Given the description of an element on the screen output the (x, y) to click on. 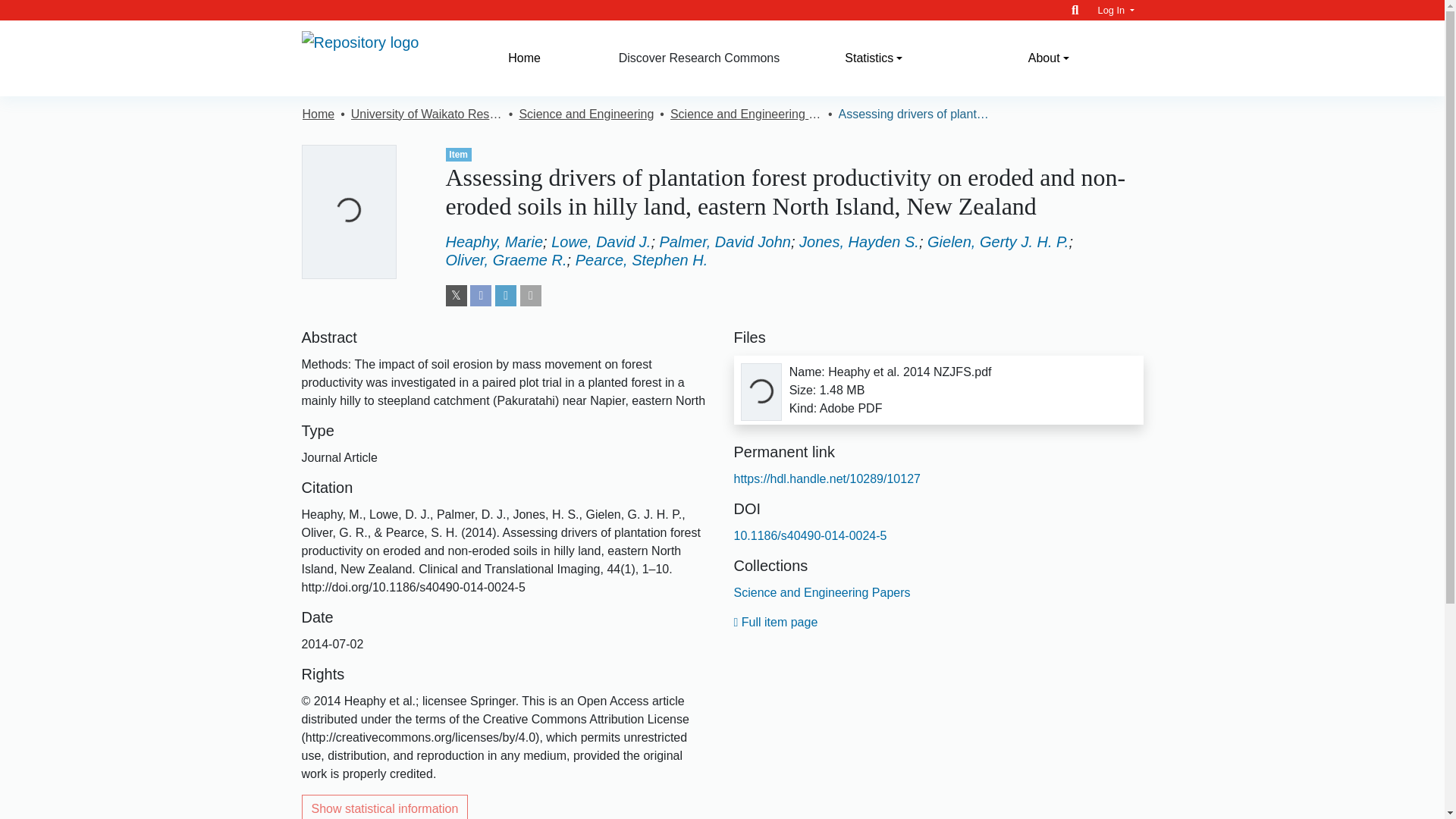
Search (1075, 10)
Oliver, Graeme R. (506, 259)
University of Waikato Research (426, 114)
Log In (1115, 9)
Science and Engineering (585, 114)
Gielen, Gerty J. H. P. (997, 241)
Heaphy, Marie (494, 241)
Palmer, David John (724, 241)
About (1047, 58)
